Given the description of an element on the screen output the (x, y) to click on. 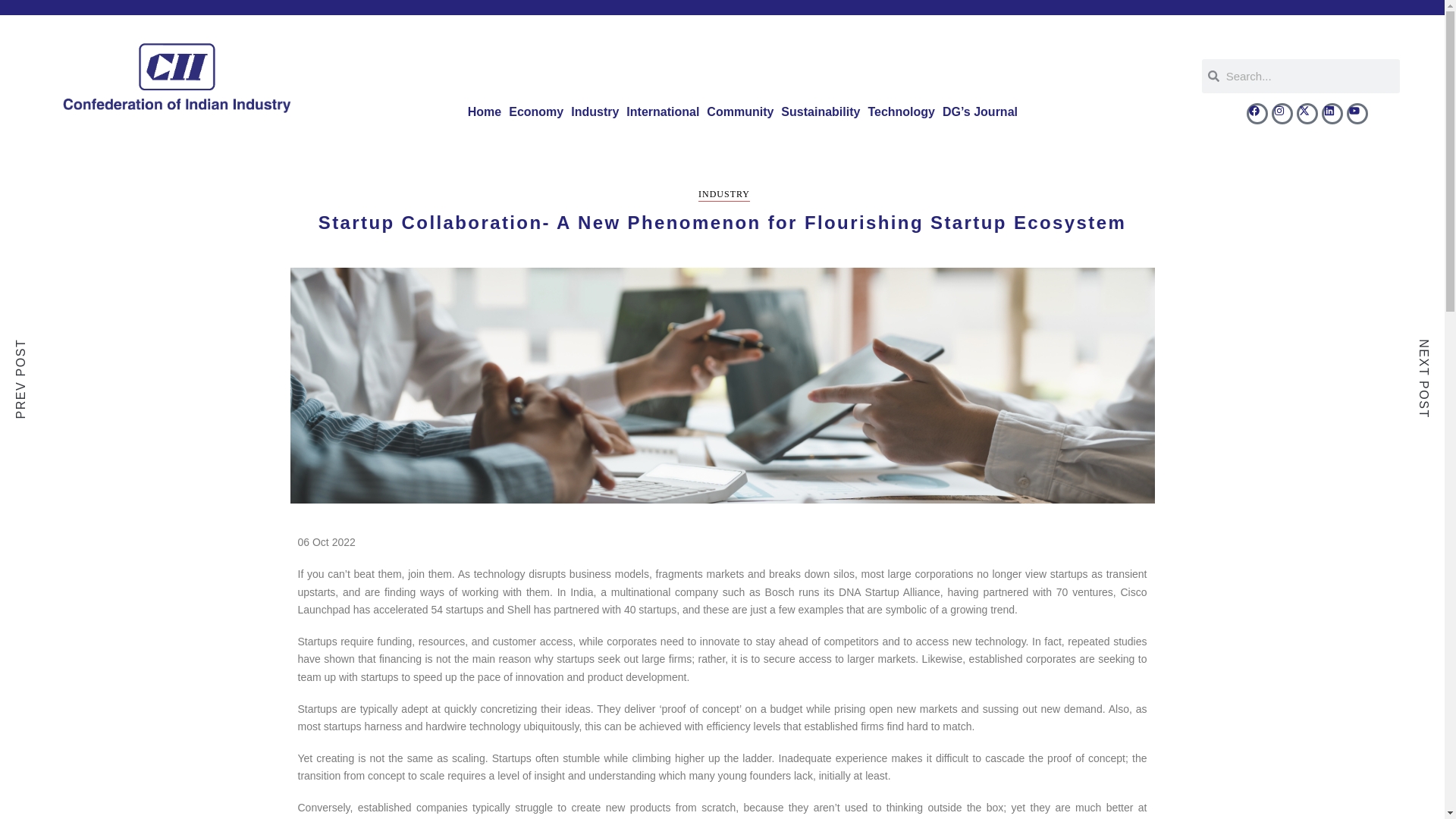
Community (740, 112)
International (663, 112)
Industry (595, 112)
Economy (536, 112)
Technology (901, 112)
INDUSTRY (723, 195)
Home (484, 112)
Sustainability (820, 112)
